Given the description of an element on the screen output the (x, y) to click on. 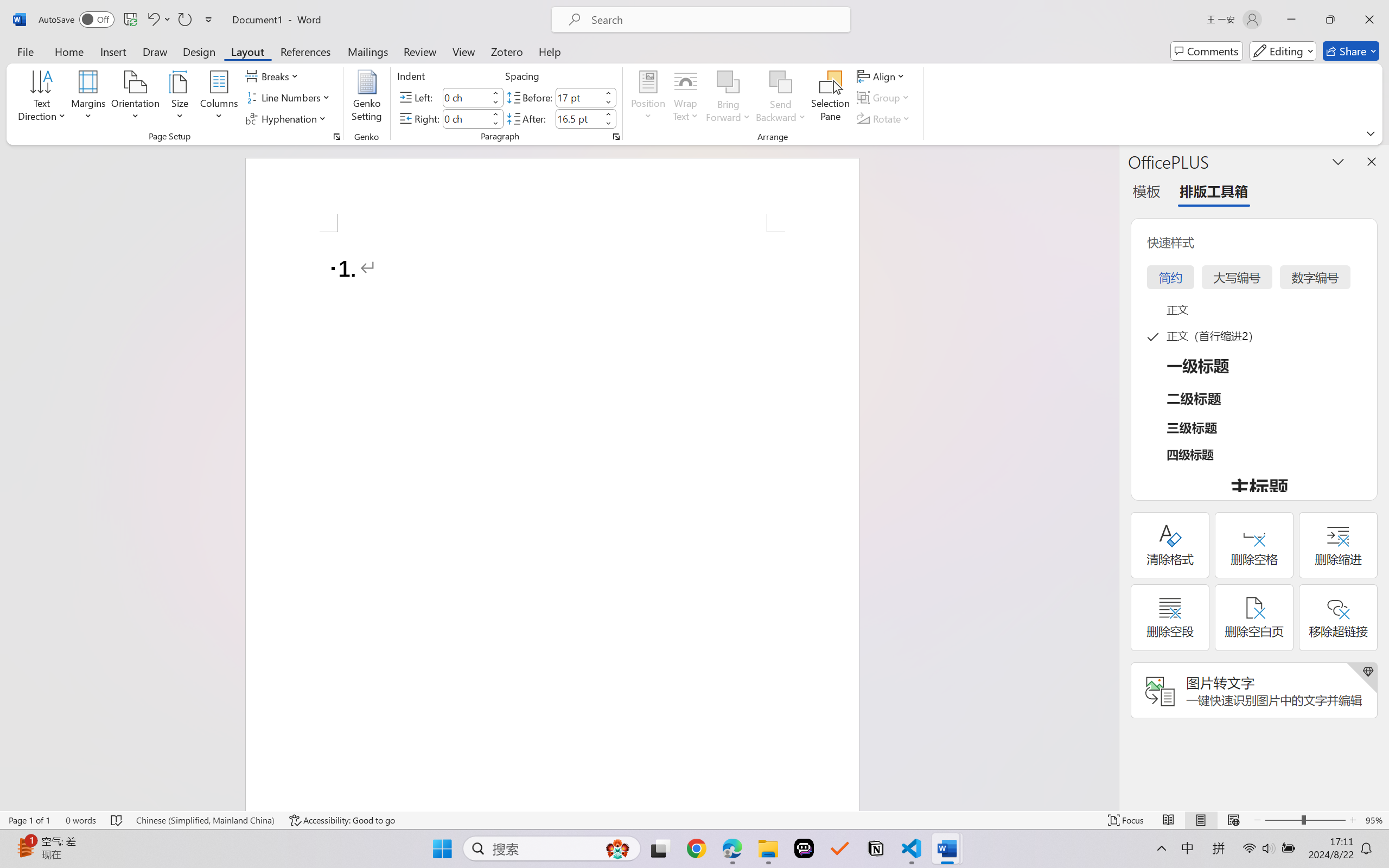
Genko Setting... (367, 97)
Repeat Doc Close (184, 19)
Orientation (135, 97)
Microsoft search (715, 19)
Line Numbers (289, 97)
